Given the description of an element on the screen output the (x, y) to click on. 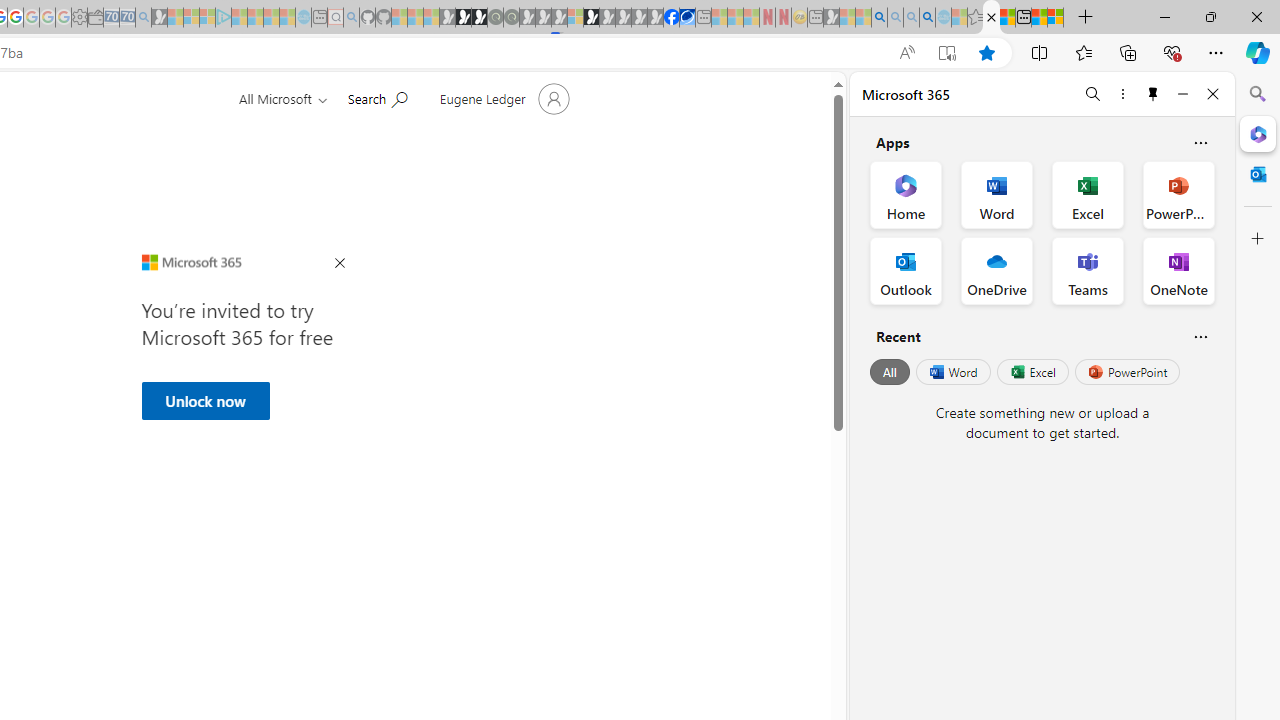
Is this helpful? (1200, 336)
MSN - Sleeping (831, 17)
Excel (1031, 372)
Excel Office App (1087, 194)
Future Focus Report 2024 - Sleeping (511, 17)
OneDrive Office App (996, 270)
